Given the description of an element on the screen output the (x, y) to click on. 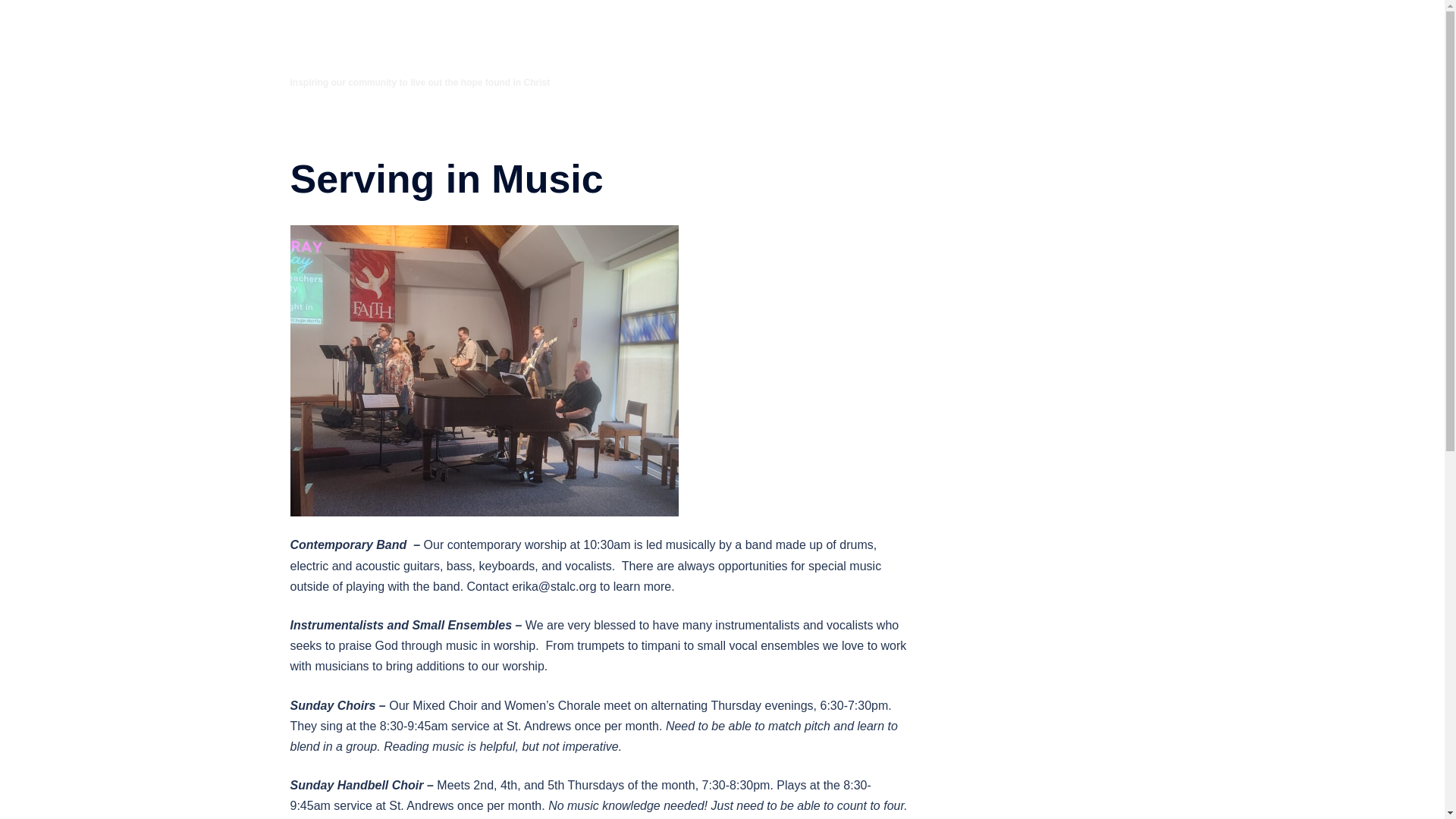
St. Andrews Lutheran Church (414, 43)
Rahab Comfort Dog (892, 42)
Worship (729, 42)
About Us (668, 42)
Community (798, 42)
Home (609, 42)
Home (609, 42)
